Given the description of an element on the screen output the (x, y) to click on. 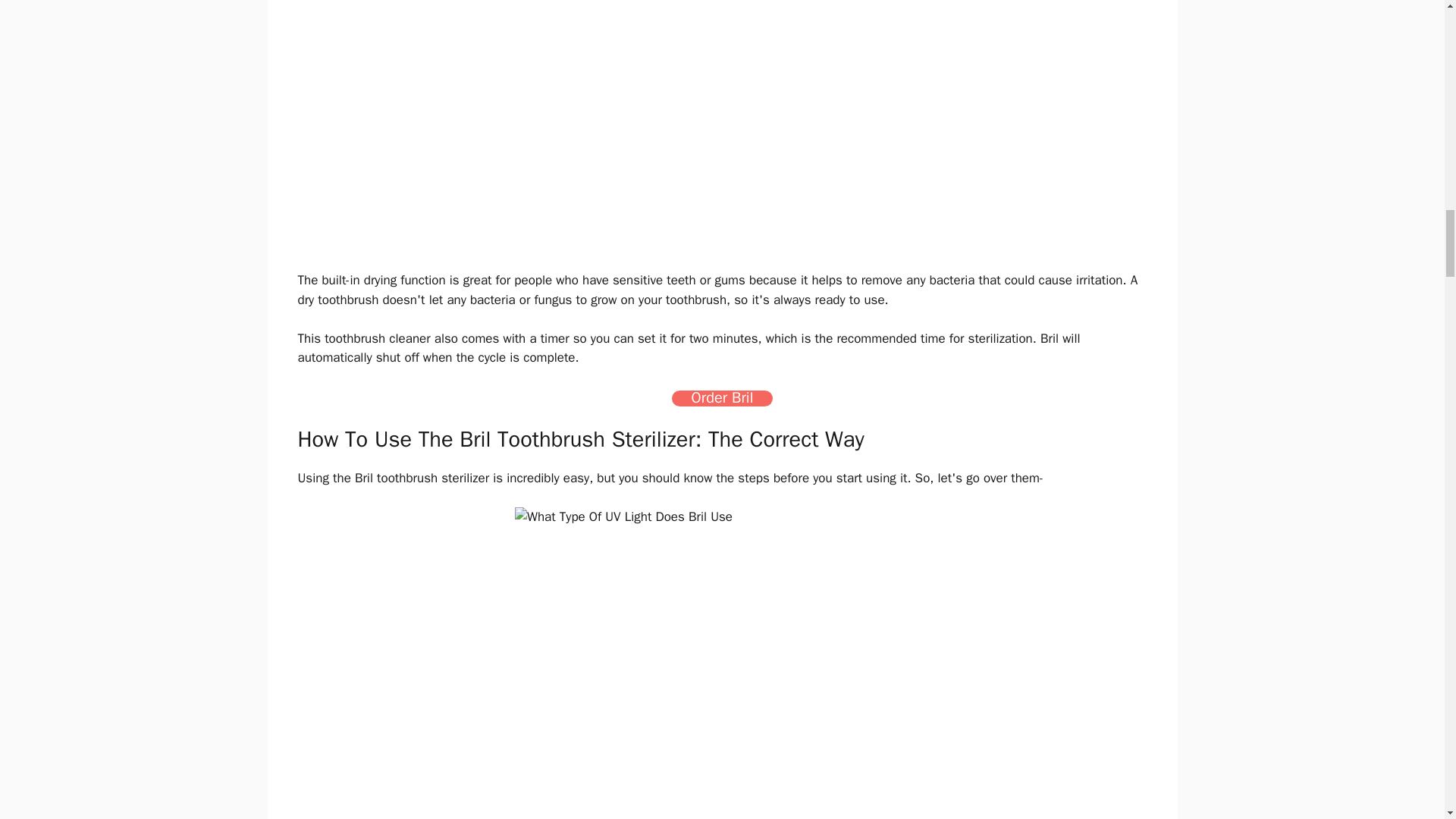
Order Bril (722, 398)
